Given the description of an element on the screen output the (x, y) to click on. 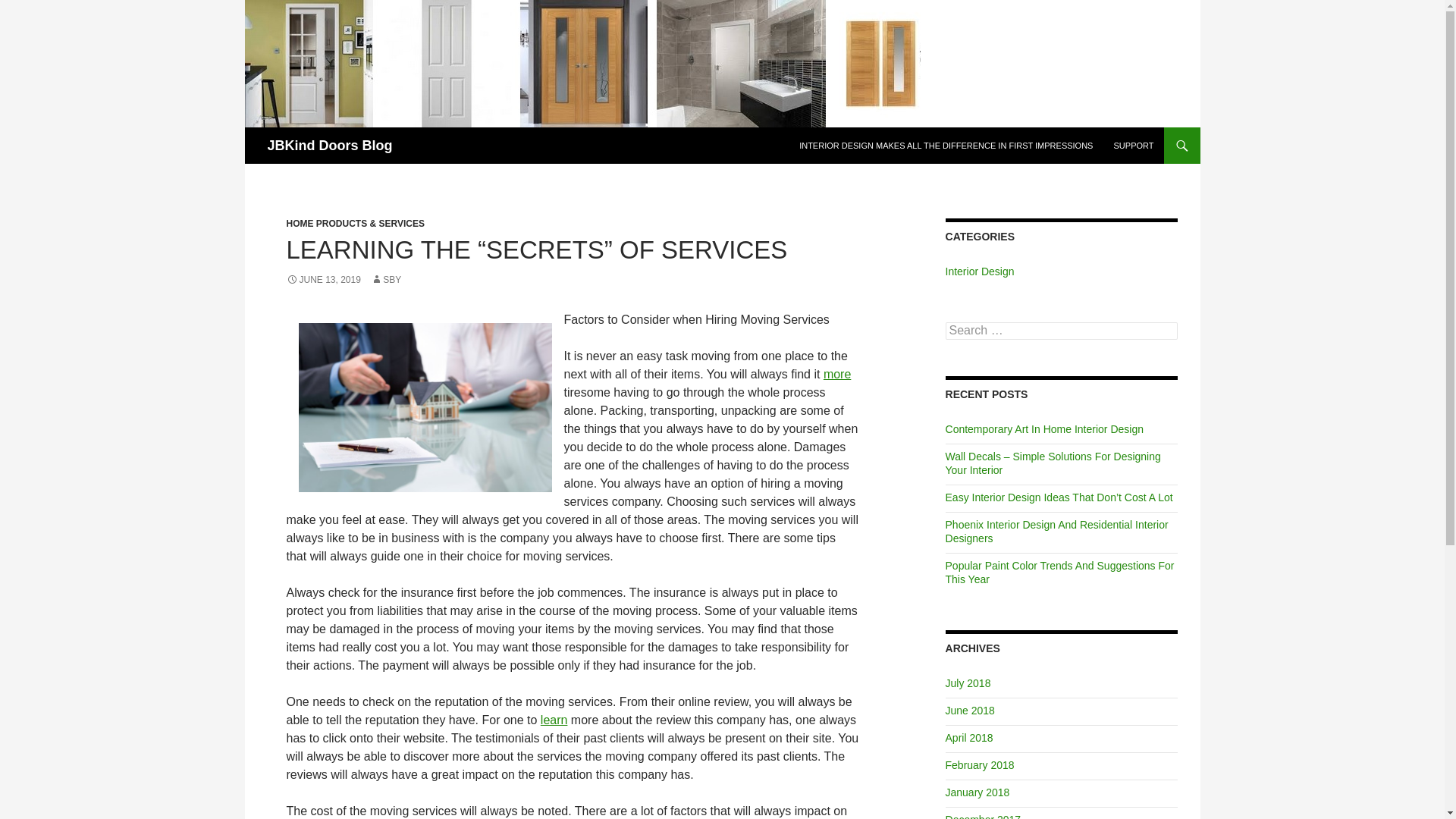
July 2018 (967, 683)
June 2018 (969, 710)
Search (30, 8)
more (837, 373)
learn (553, 719)
JUNE 13, 2019 (323, 279)
December 2017 (983, 816)
Interior Design (979, 271)
April 2018 (968, 737)
